Given the description of an element on the screen output the (x, y) to click on. 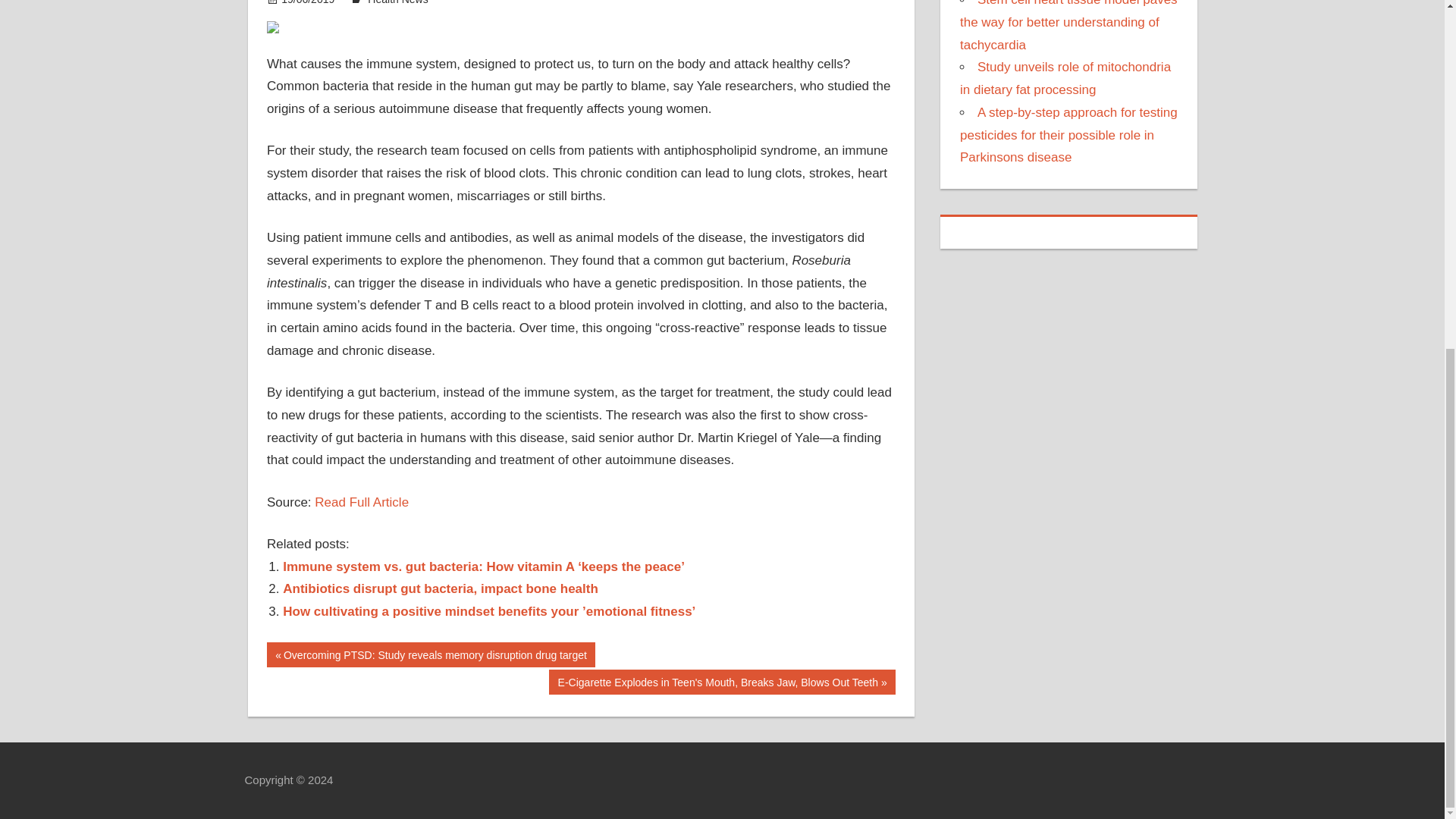
A (274, 651)
Antibiotics disrupt gut bacteria, impact bone health (440, 588)
8:37 pm (307, 2)
Antibiotics disrupt gut bacteria, impact bone health (440, 588)
Health News (398, 2)
Read Full Article (361, 502)
